Given the description of an element on the screen output the (x, y) to click on. 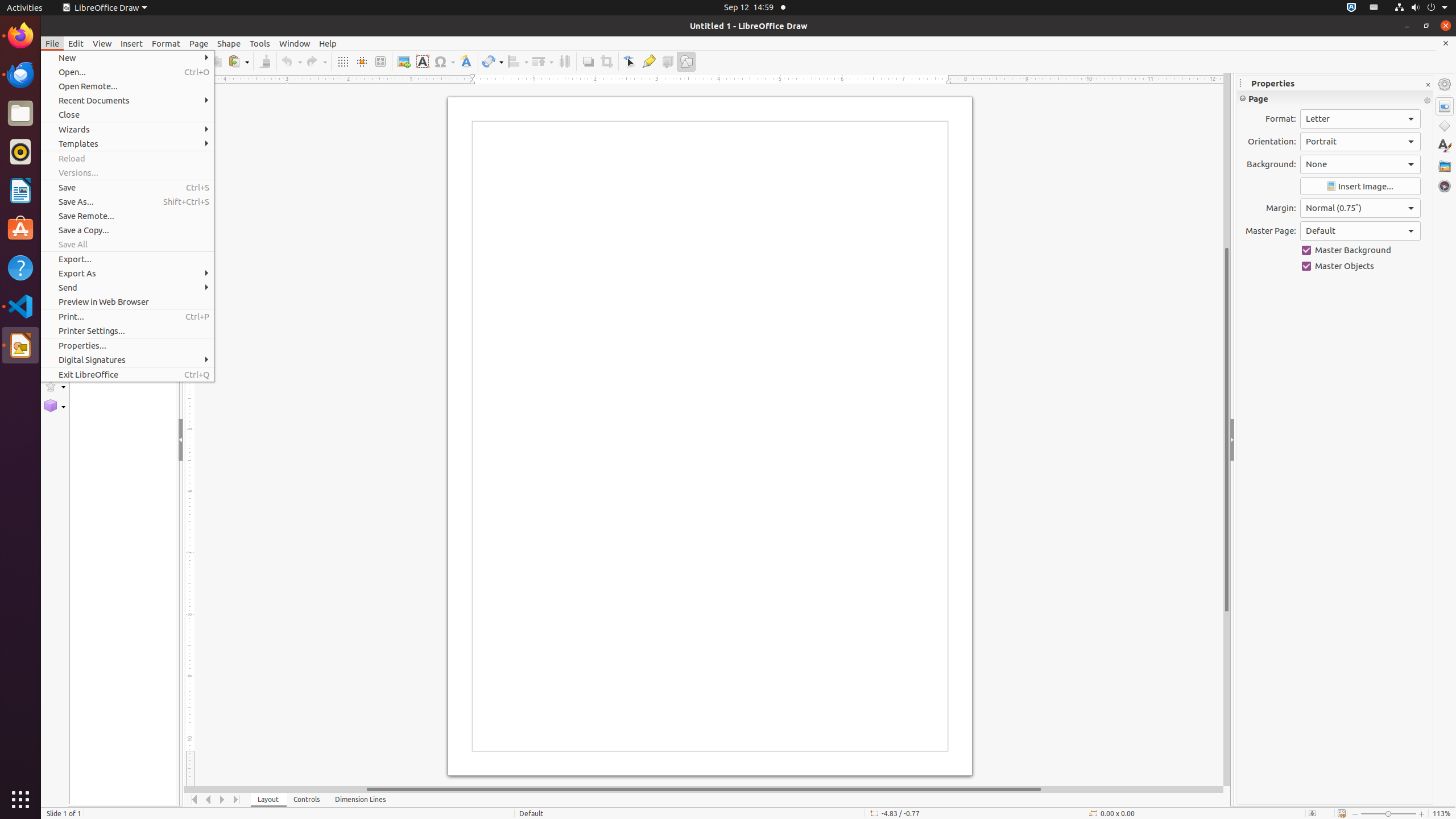
Navigator Element type: radio-button (1444, 185)
Insert Element type: menu (131, 43)
Glue Points Element type: push-button (648, 61)
Distribution Element type: push-button (564, 61)
Move Left Element type: push-button (208, 799)
